Given the description of an element on the screen output the (x, y) to click on. 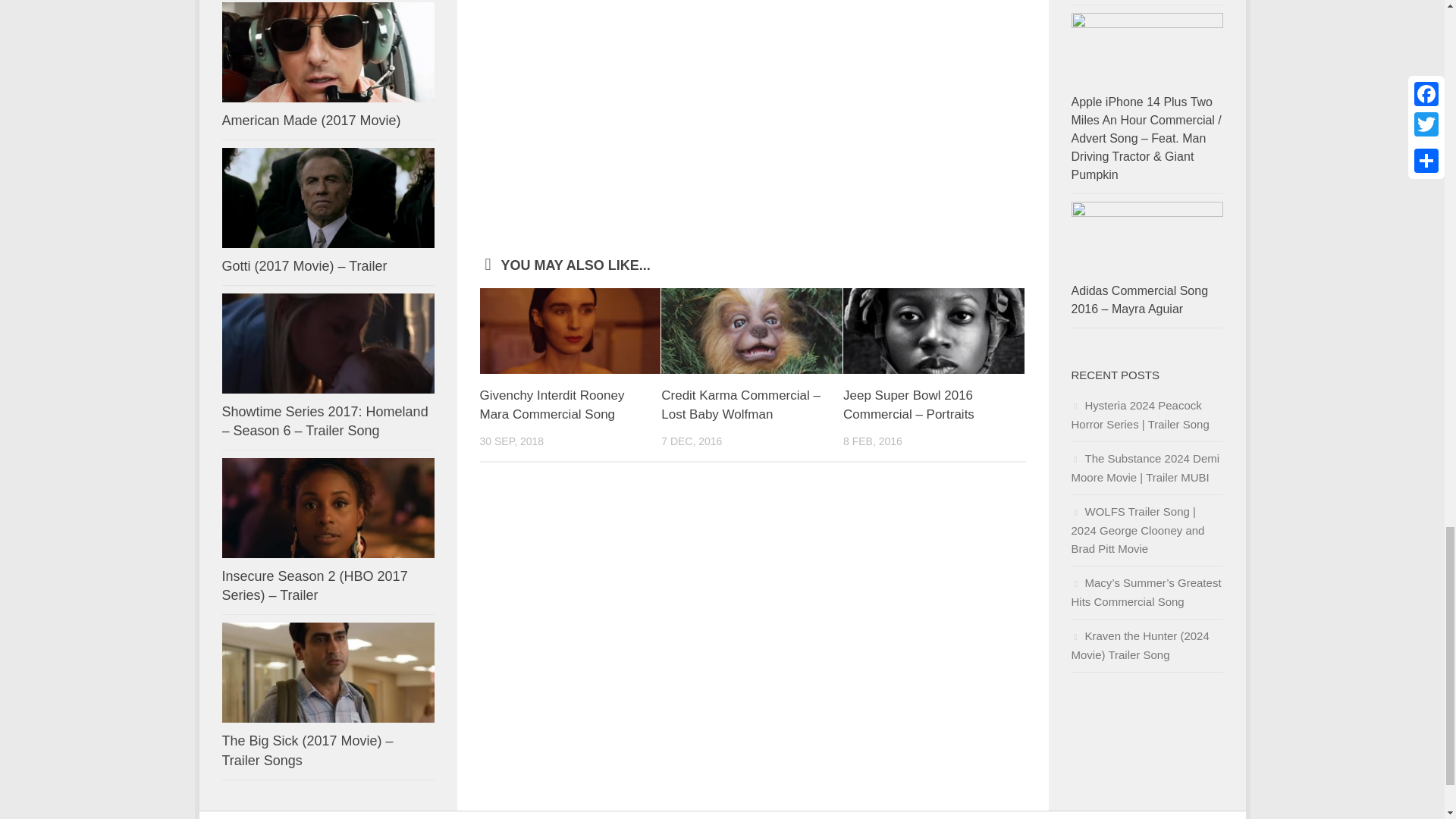
Givenchy Interdit Rooney Mara Commercial Song (551, 405)
Givenchy Interdit Rooney Mara Commercial Song (570, 330)
Givenchy Interdit Rooney Mara Commercial Song (551, 405)
